Given the description of an element on the screen output the (x, y) to click on. 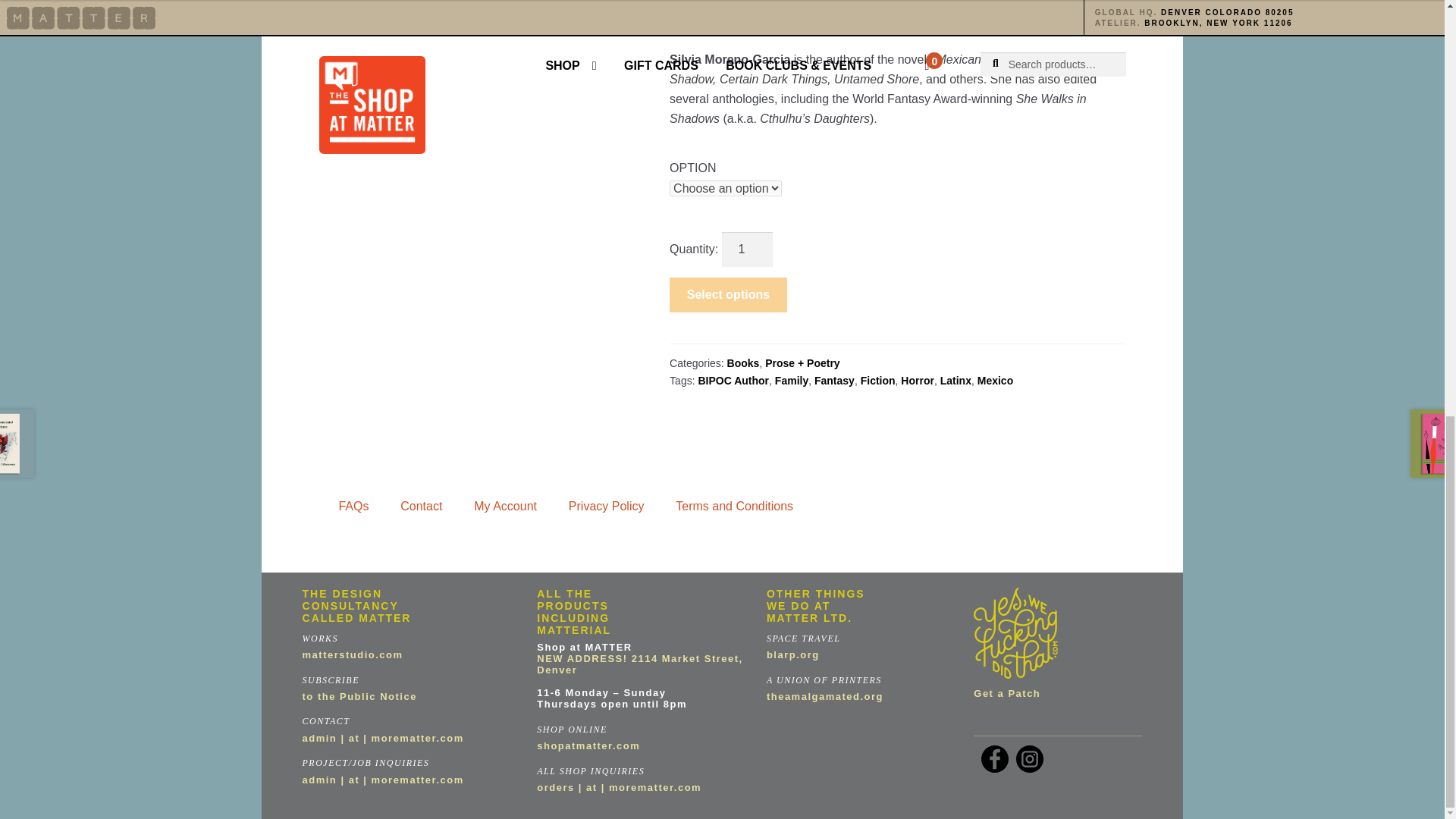
1 (747, 248)
